Given the description of an element on the screen output the (x, y) to click on. 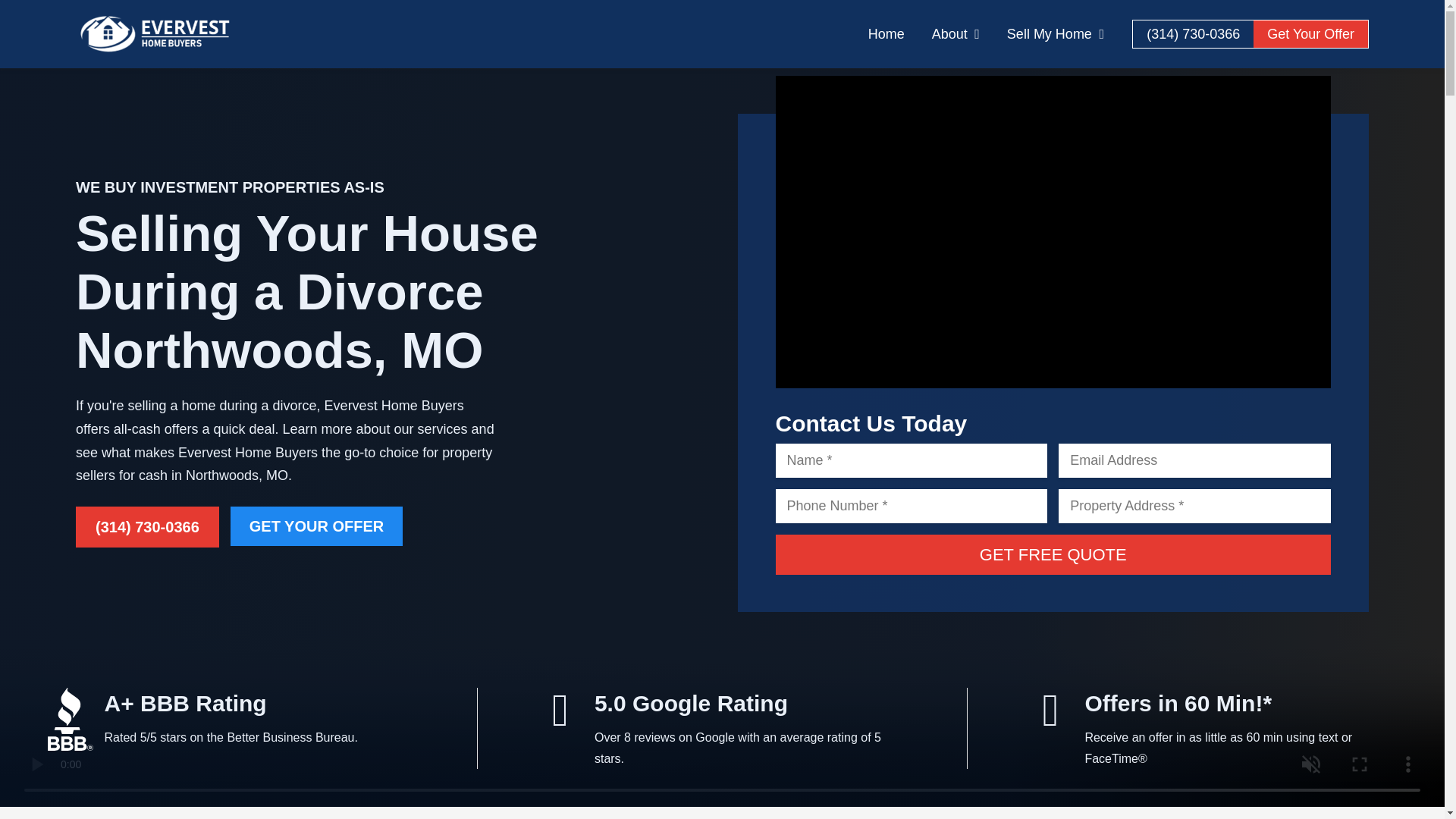
Get Free Quote (1052, 554)
Get Free Quote (1052, 554)
Sell My Home (1055, 33)
About (955, 33)
Home (886, 33)
GET YOUR OFFER (316, 526)
Get Your Offer (1310, 33)
